Given the description of an element on the screen output the (x, y) to click on. 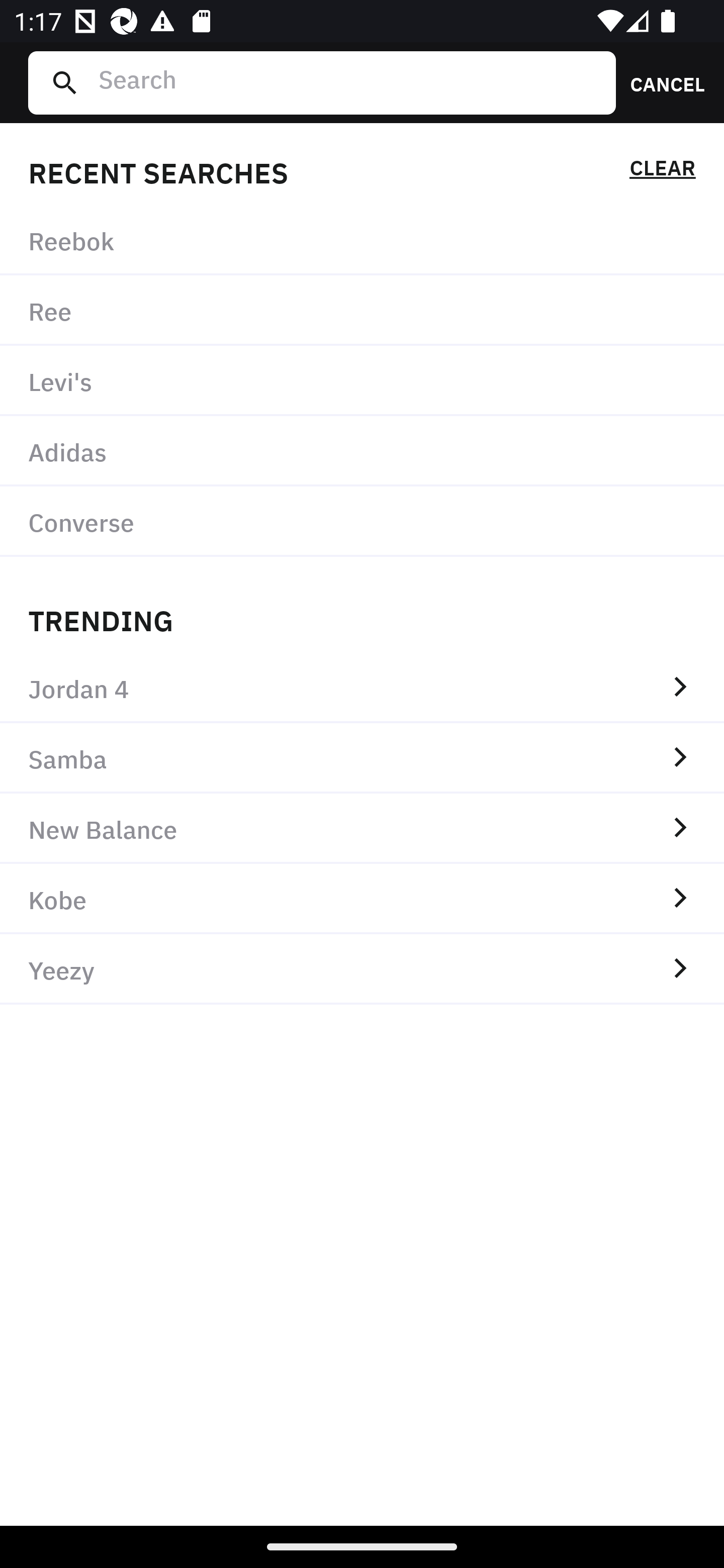
CANCEL (660, 82)
Search (349, 82)
CLEAR (662, 170)
Reebok (362, 240)
Ree (362, 310)
Levi's (362, 380)
Adidas (362, 450)
Converse (362, 521)
Jordan 4  (362, 687)
Samba  (362, 757)
New Balance  (362, 828)
Kobe  (362, 898)
Yeezy  (362, 969)
